Given the description of an element on the screen output the (x, y) to click on. 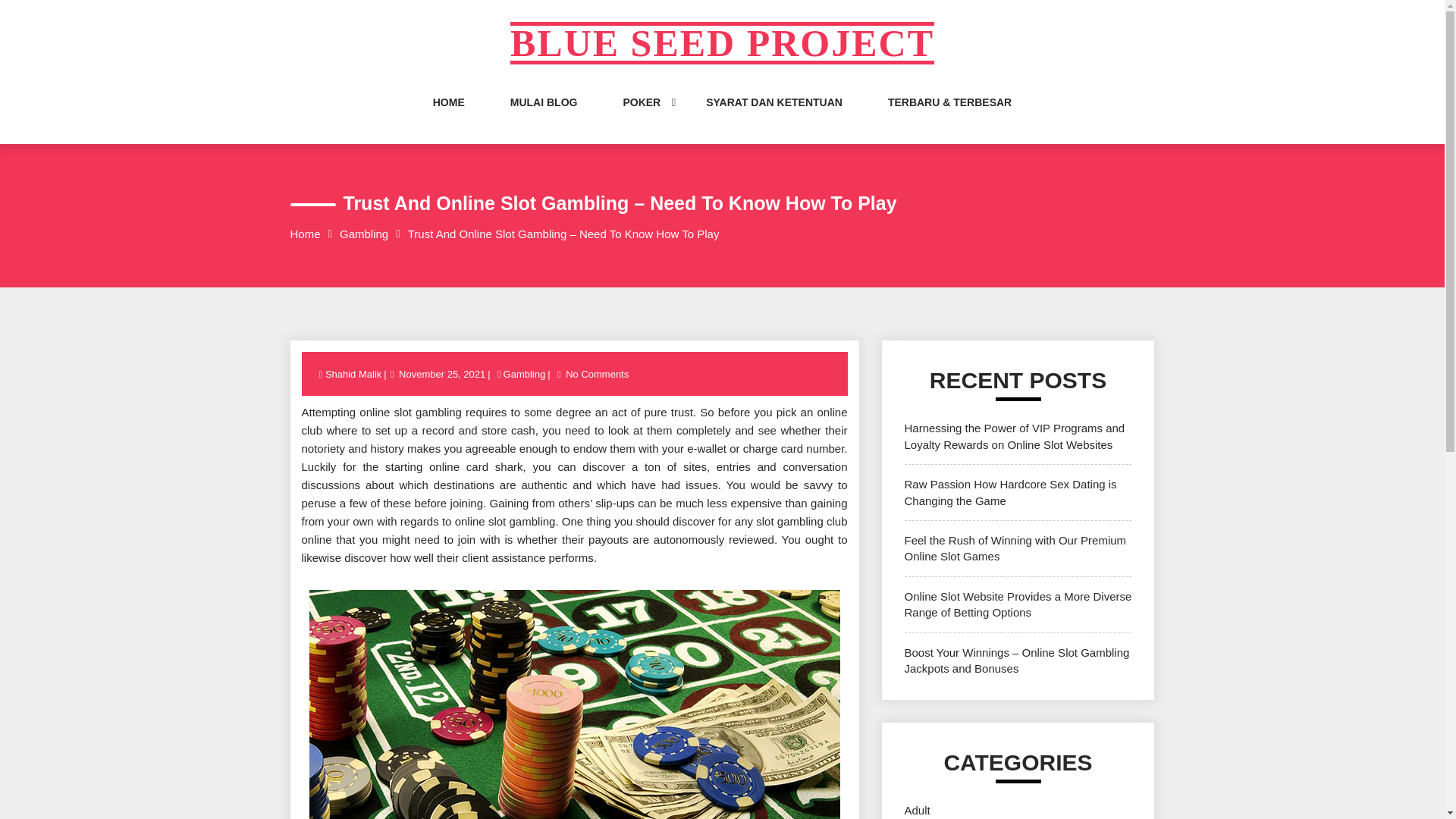
SYARAT DAN KETENTUAN (774, 117)
BLUE SEED PROJECT (722, 43)
MULAI BLOG (544, 117)
Feel the Rush of Winning with Our Premium Online Slot Games (1014, 547)
Gambling (363, 233)
Gambling (524, 374)
Adult (917, 809)
No Comments (596, 374)
Shahid Malik (354, 374)
November 25, 2021 (441, 374)
Home (304, 233)
Raw Passion How Hardcore Sex Dating is Changing the Game (1010, 491)
